Given the description of an element on the screen output the (x, y) to click on. 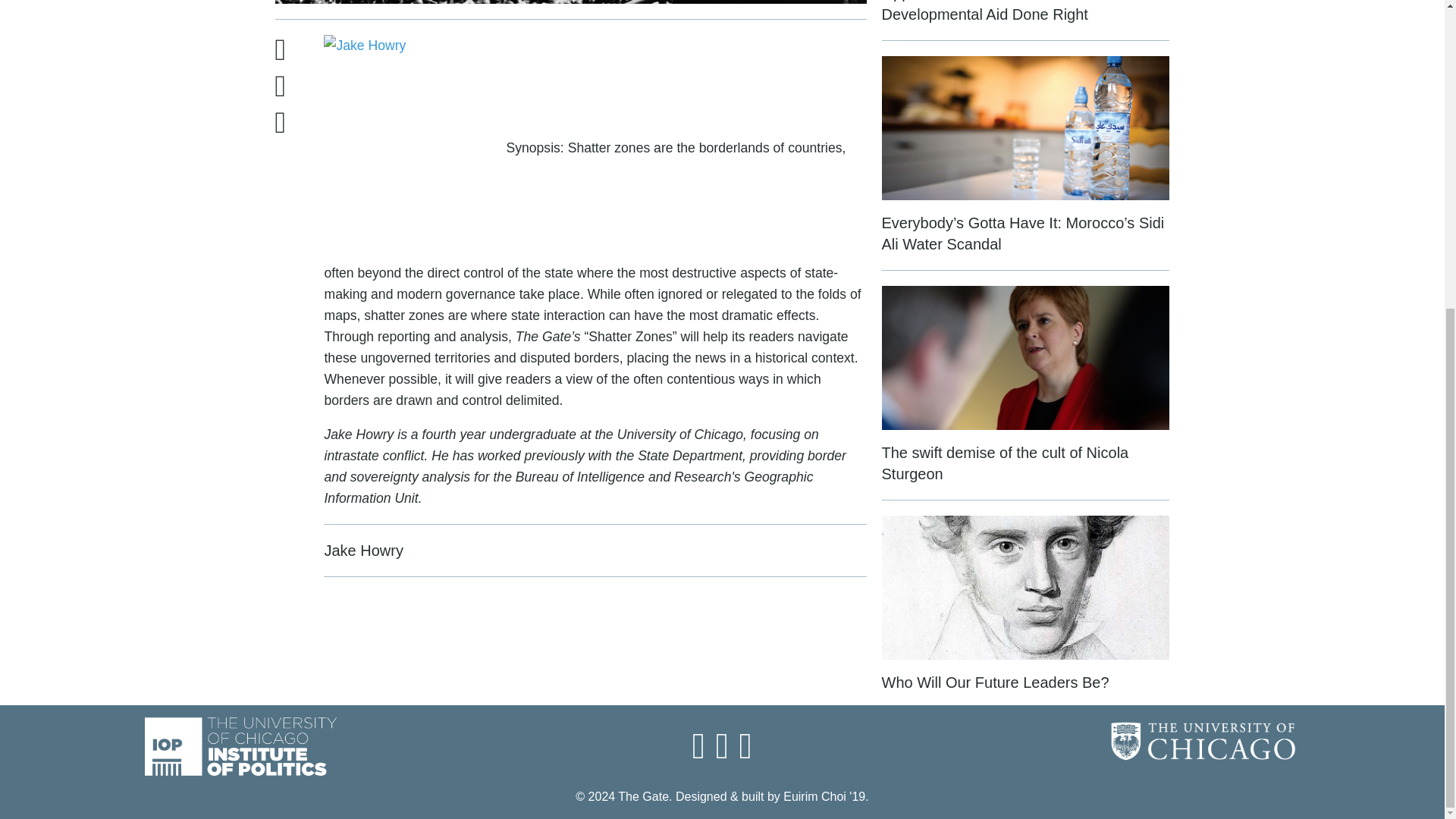
The swift demise of the cult of Nicola Sturgeon (1024, 392)
Who Will Our Future Leaders Be? (1024, 603)
